Given the description of an element on the screen output the (x, y) to click on. 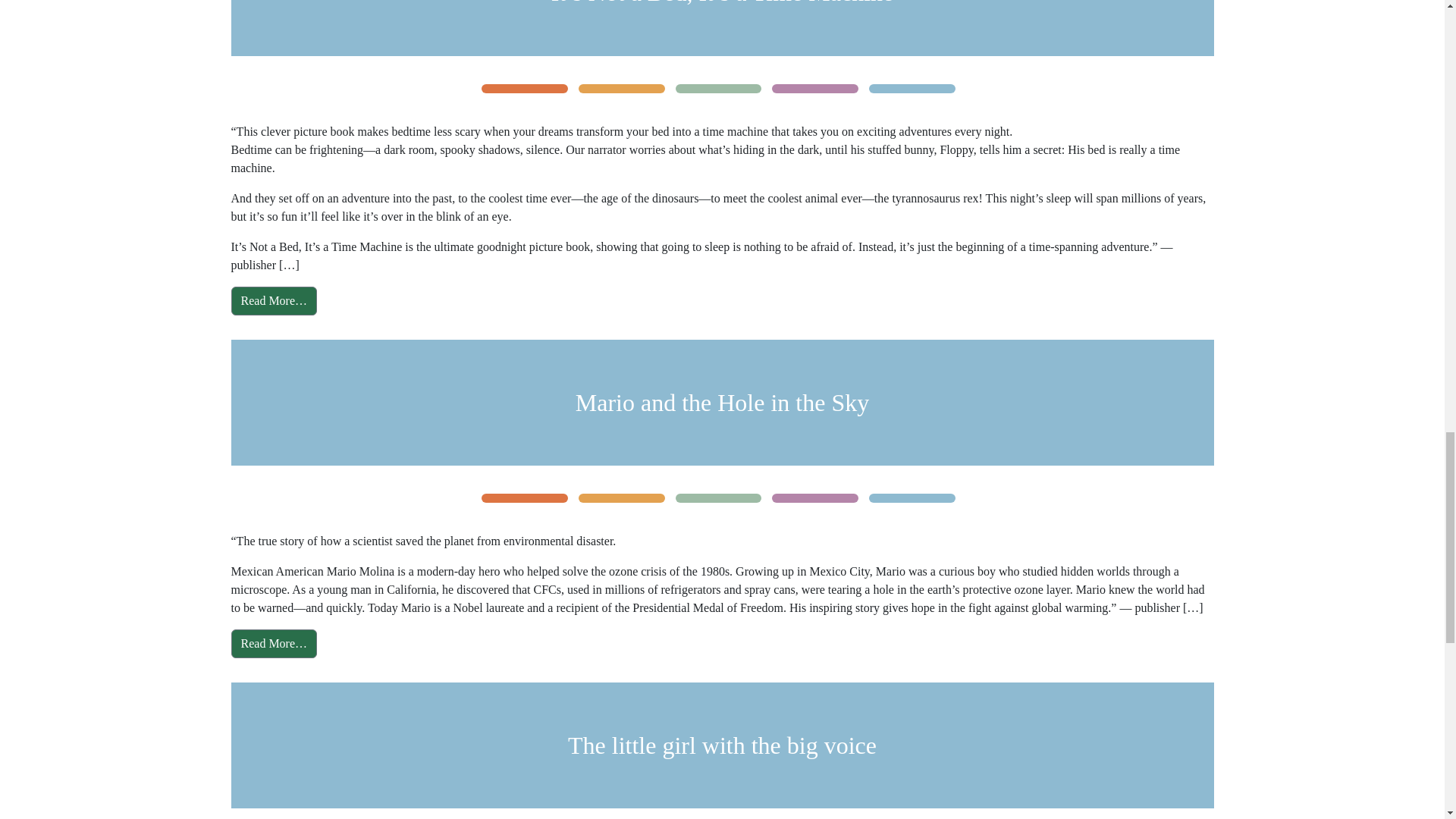
Mario and the Hole in the Sky (722, 402)
The little girl with the big voice (721, 745)
